Given the description of an element on the screen output the (x, y) to click on. 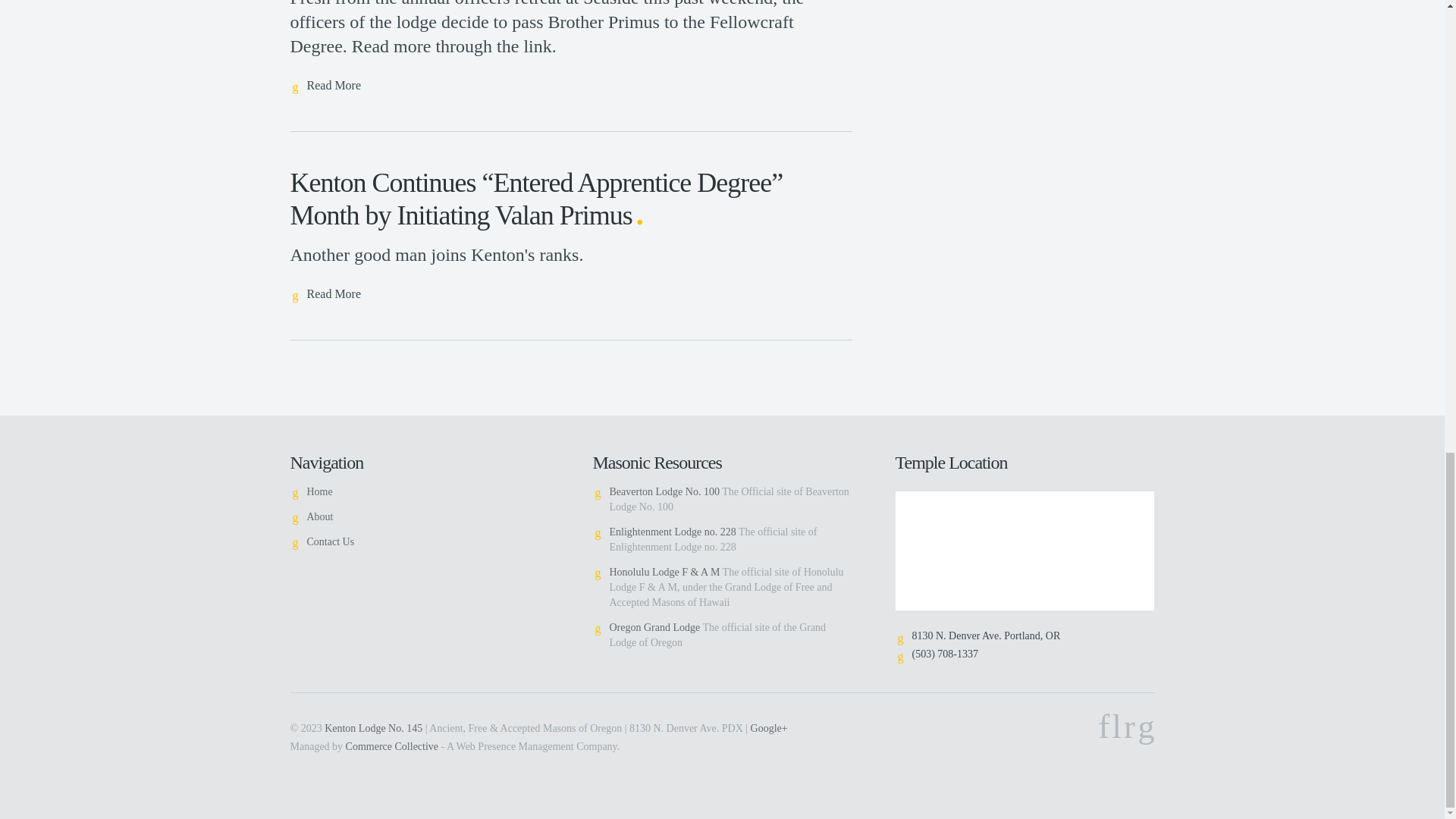
Enlightenment Lodge no. 228 (673, 531)
Oregon Grand Lodge (655, 627)
Read More (325, 86)
The official site of the Grand Lodge of Oregon (655, 627)
Read More (325, 294)
Commerce Collective (392, 746)
About (319, 516)
Kenton Lodge No. 145 (373, 727)
The official site of Enlightenment Lodge no. 228 (673, 531)
The Official site of Beaverton Lodge No. 100 (664, 491)
Home (318, 491)
Beaverton Lodge No. 100 (664, 491)
Contact Us (329, 541)
